Given the description of an element on the screen output the (x, y) to click on. 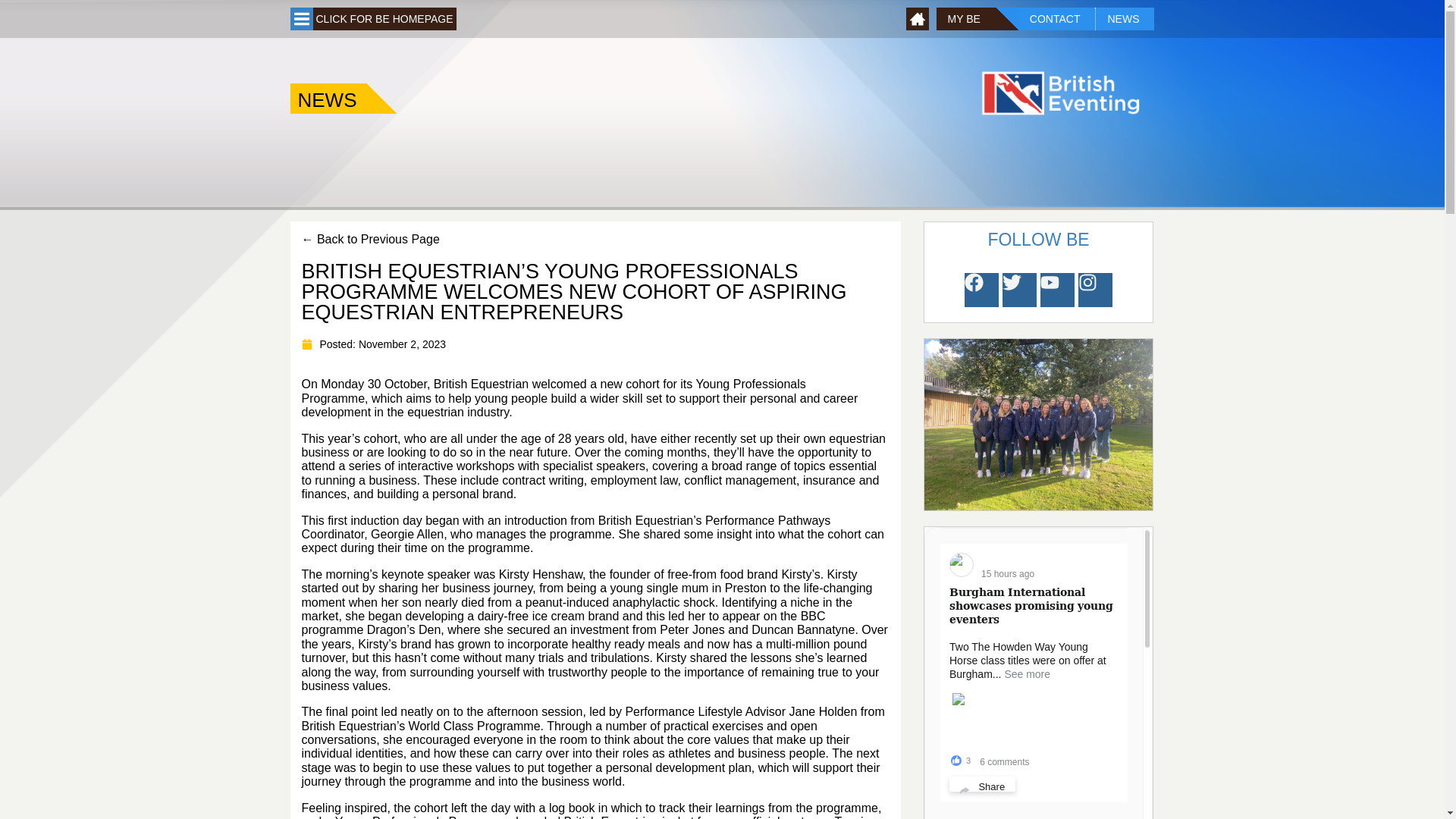
NEWS (327, 98)
CONTACT (1056, 18)
FOLLOW BE (1038, 239)
British Eventing Official (1041, 560)
Like: 3 (955, 760)
MY BE (965, 18)
Posted: November 2, 2023 (373, 344)
CLICK FOR BE HOMEPAGE (384, 18)
NEWS (1124, 18)
